Given the description of an element on the screen output the (x, y) to click on. 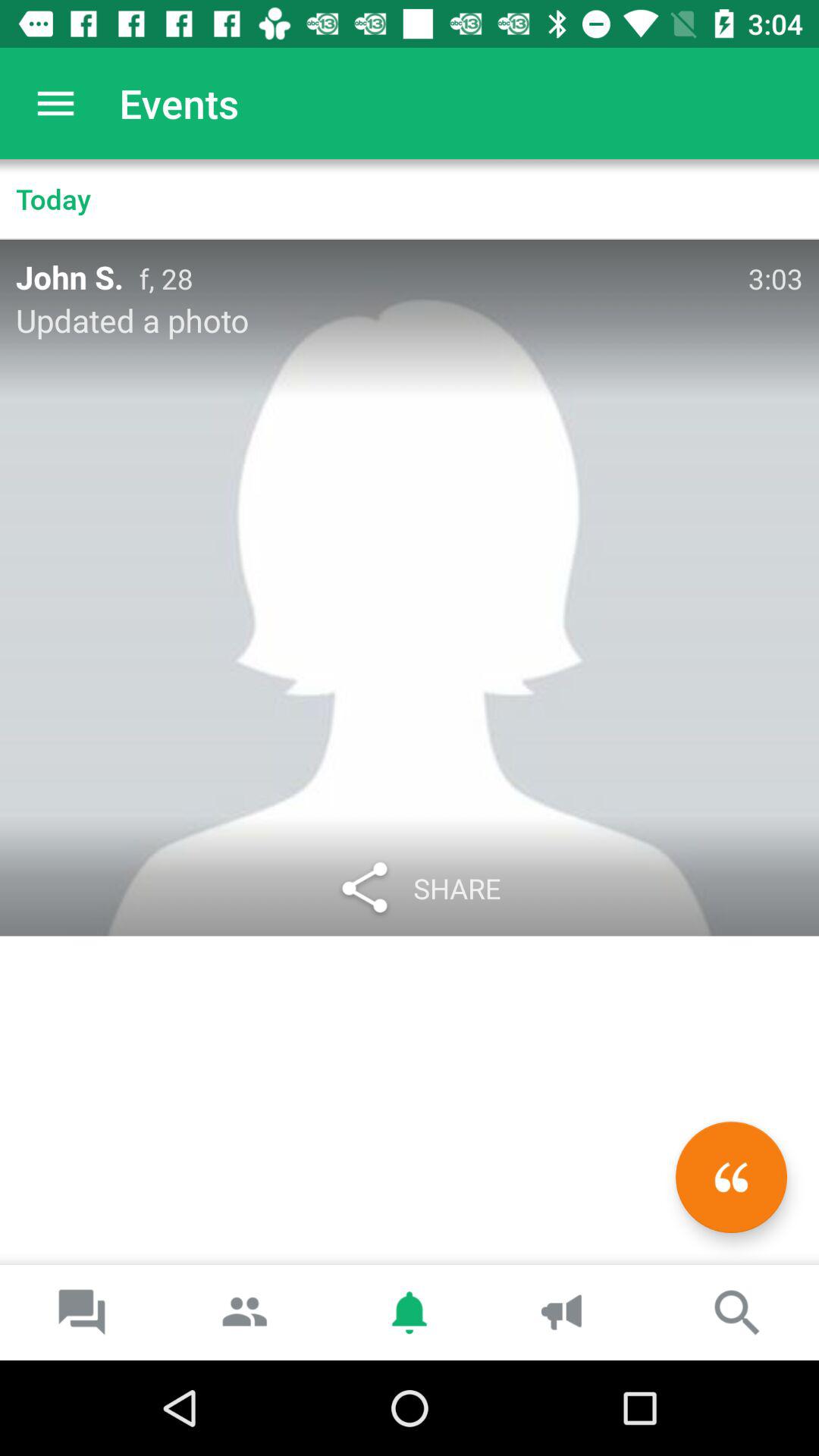
tap app to the left of events item (55, 103)
